Given the description of an element on the screen output the (x, y) to click on. 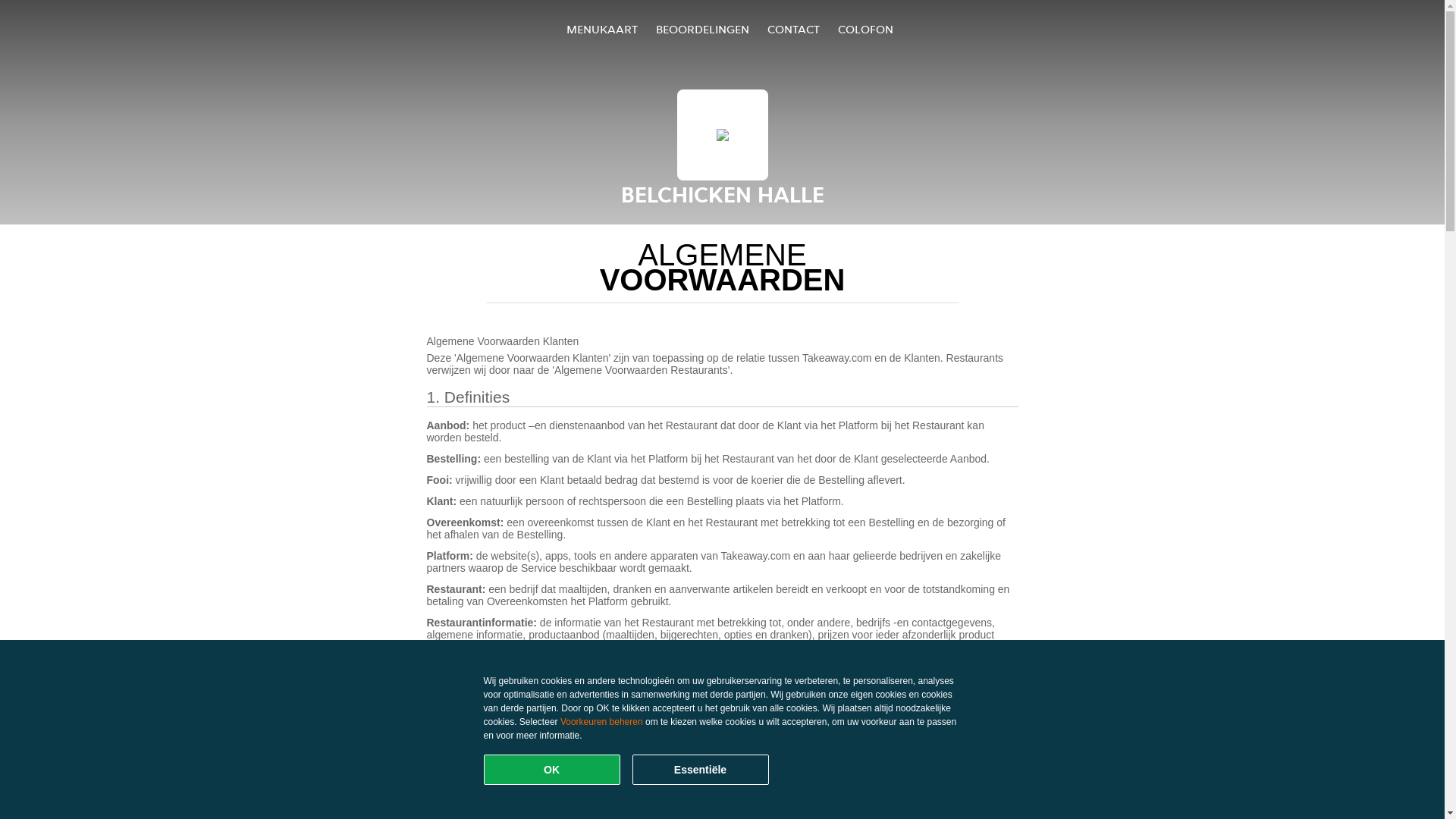
MENUKAART Element type: text (601, 29)
CONTACT Element type: text (793, 29)
OK Element type: text (551, 769)
Voorkeuren beheren Element type: text (601, 721)
BEOORDELINGEN Element type: text (702, 29)
COLOFON Element type: text (865, 29)
